Given the description of an element on the screen output the (x, y) to click on. 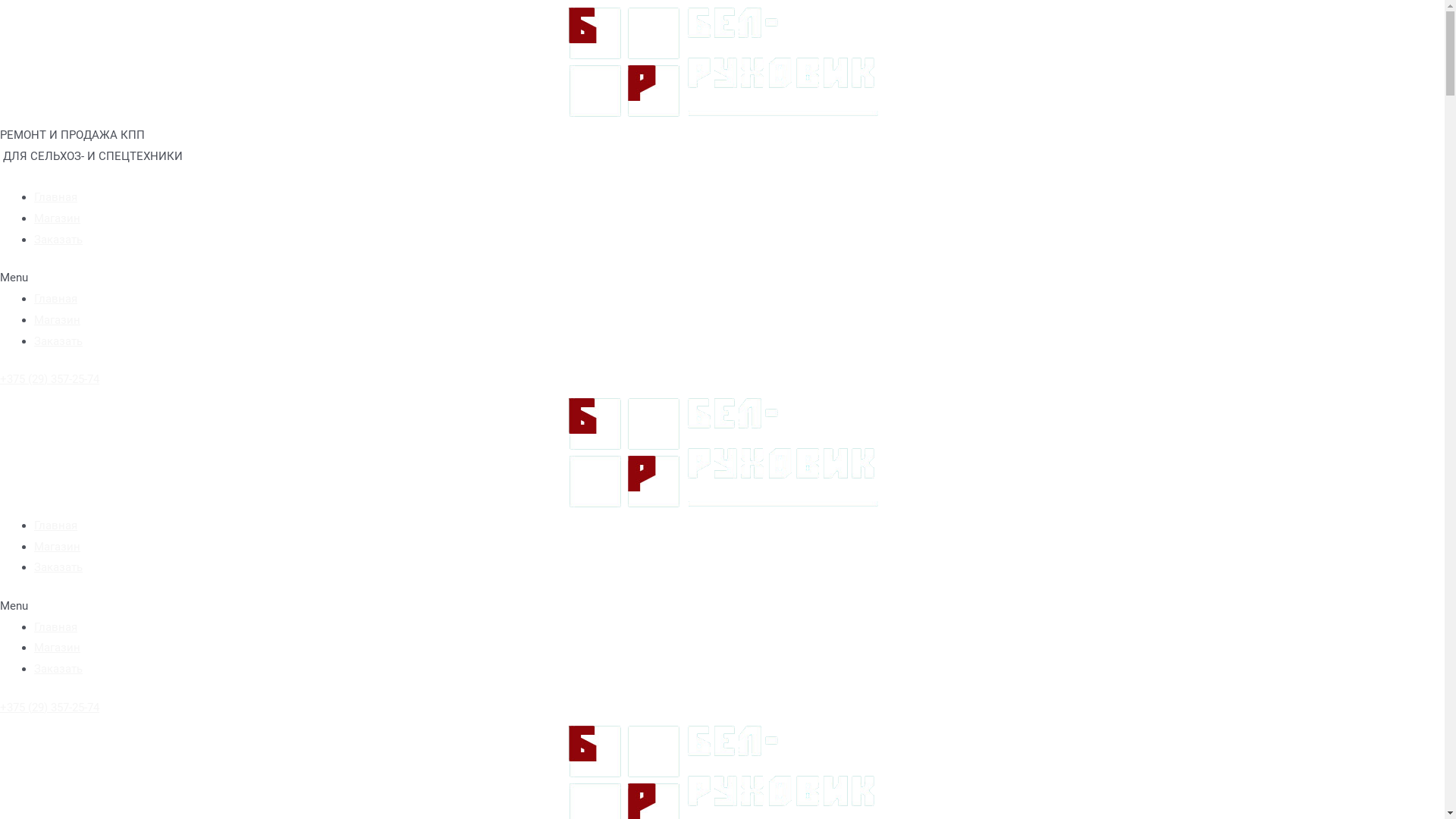
+375 (29) 357-25-74 Element type: text (49, 378)
+375 (29) 357-25-74 Element type: text (49, 707)
